Given the description of an element on the screen output the (x, y) to click on. 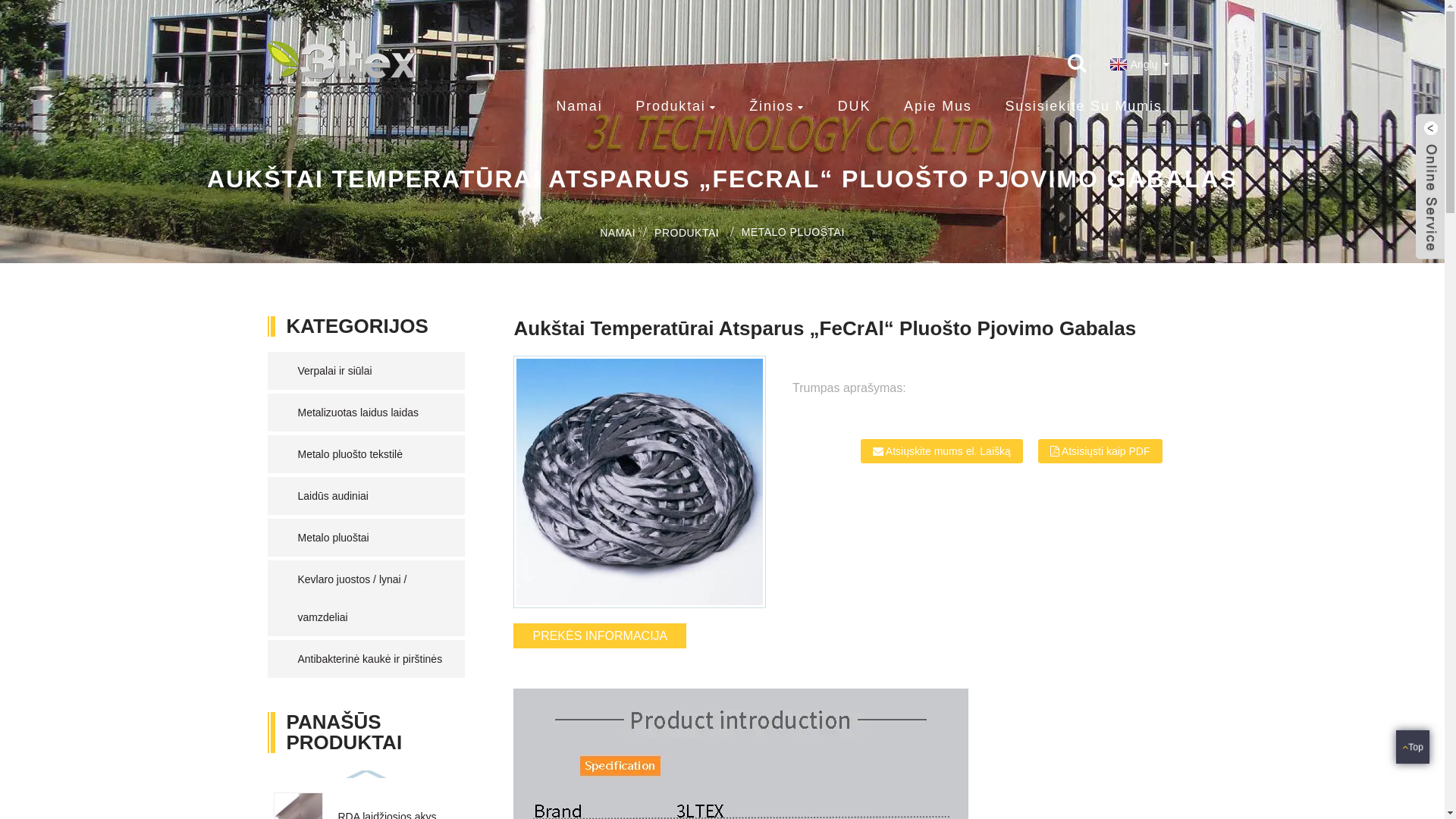
PRODUKTAI Element type: text (686, 232)
Metalizuotas laidus laidas Element type: text (372, 412)
Produktai Element type: text (675, 106)
Kevlaro juostos / lynai / vamzdeliai Element type: text (372, 598)
Apie Mus Element type: text (937, 106)
Namai Element type: text (578, 106)
NAMAI Element type: text (617, 232)
Susisiekite Su Mumis Element type: text (1082, 106)
DUK Element type: text (853, 106)
